Given the description of an element on the screen output the (x, y) to click on. 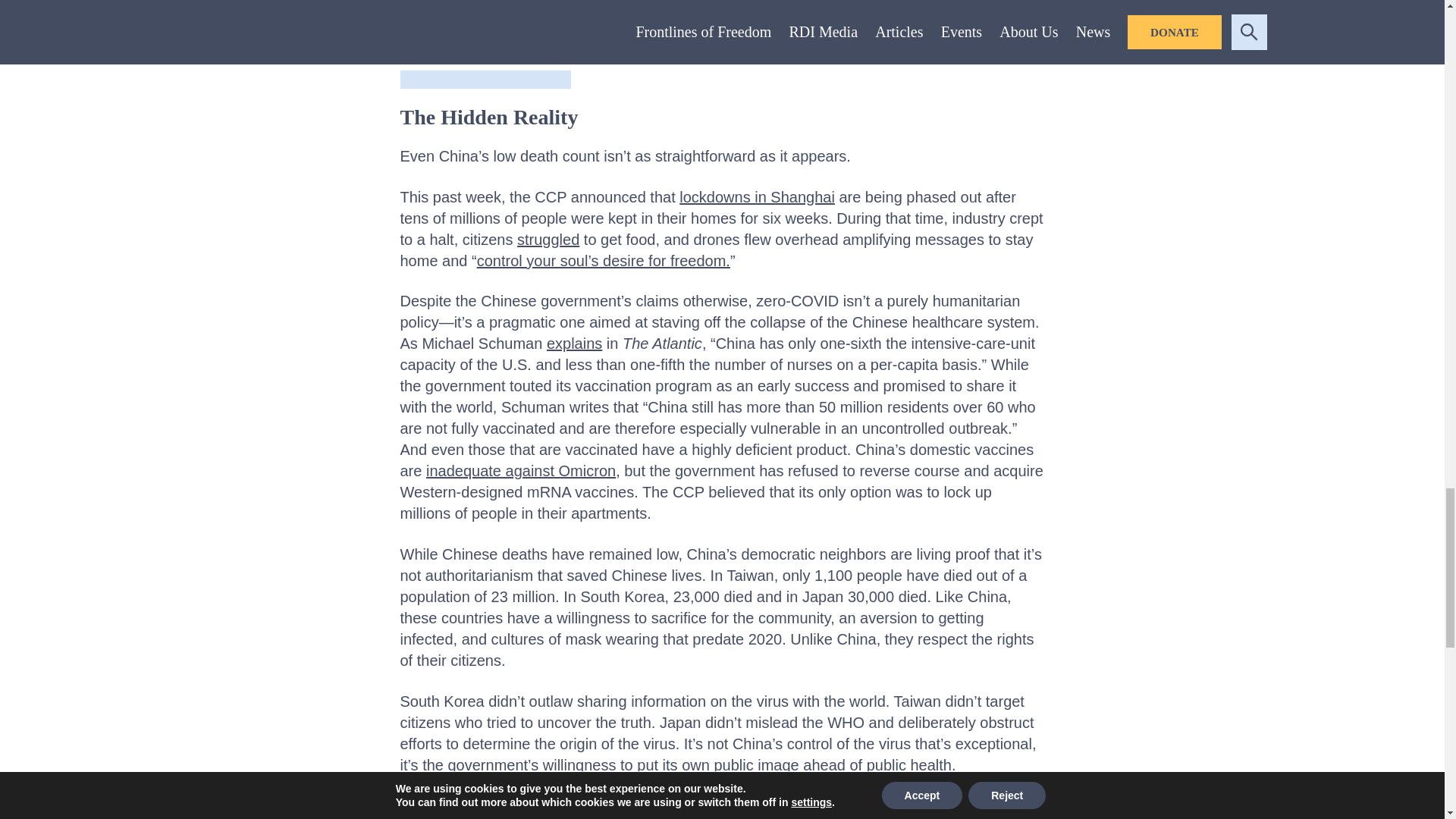
lockdowns in Shanghai (756, 197)
explains (574, 343)
struggled (547, 239)
